Given the description of an element on the screen output the (x, y) to click on. 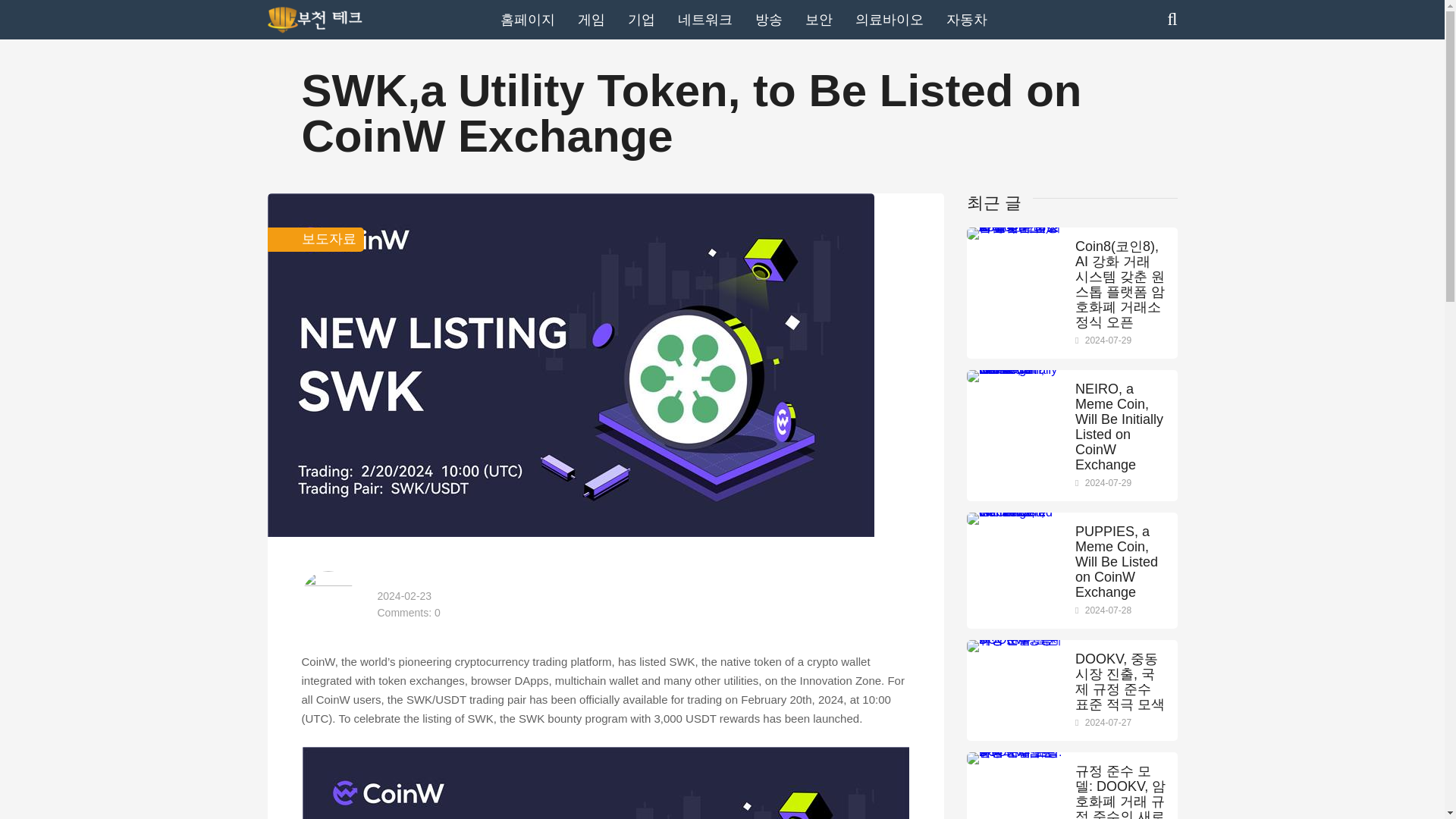
PUPPIES, a Meme Coin, Will Be Listed on CoinW Exchange (1120, 561)
PUPPIES, a Meme Coin, Will Be Listed on CoinW Exchange (1015, 512)
PUPPIES, a Meme Coin, Will Be Listed on CoinW Exchange (1120, 561)
